Given the description of an element on the screen output the (x, y) to click on. 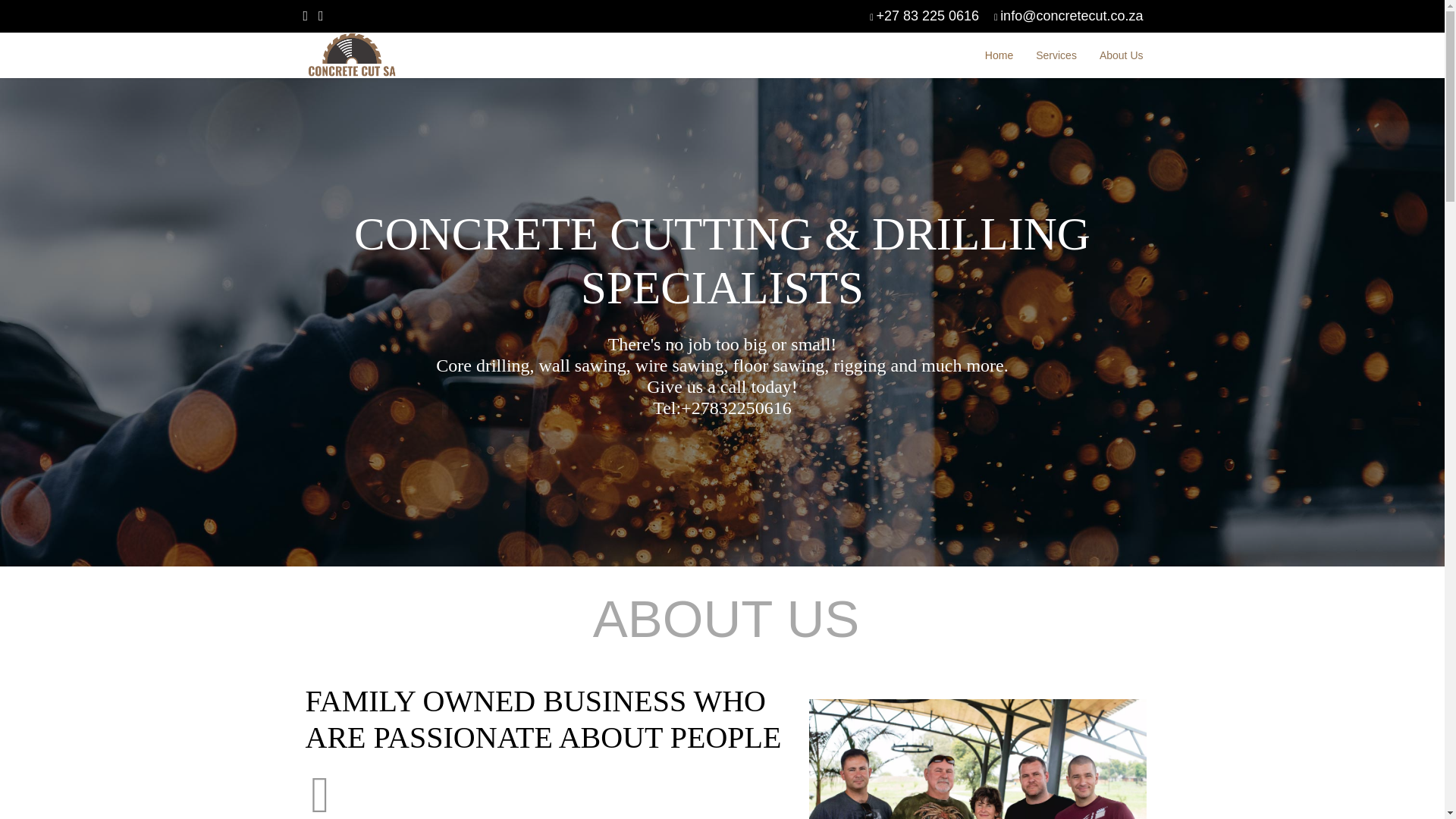
About Us (1120, 54)
Home (999, 54)
Services (1056, 54)
